Given the description of an element on the screen output the (x, y) to click on. 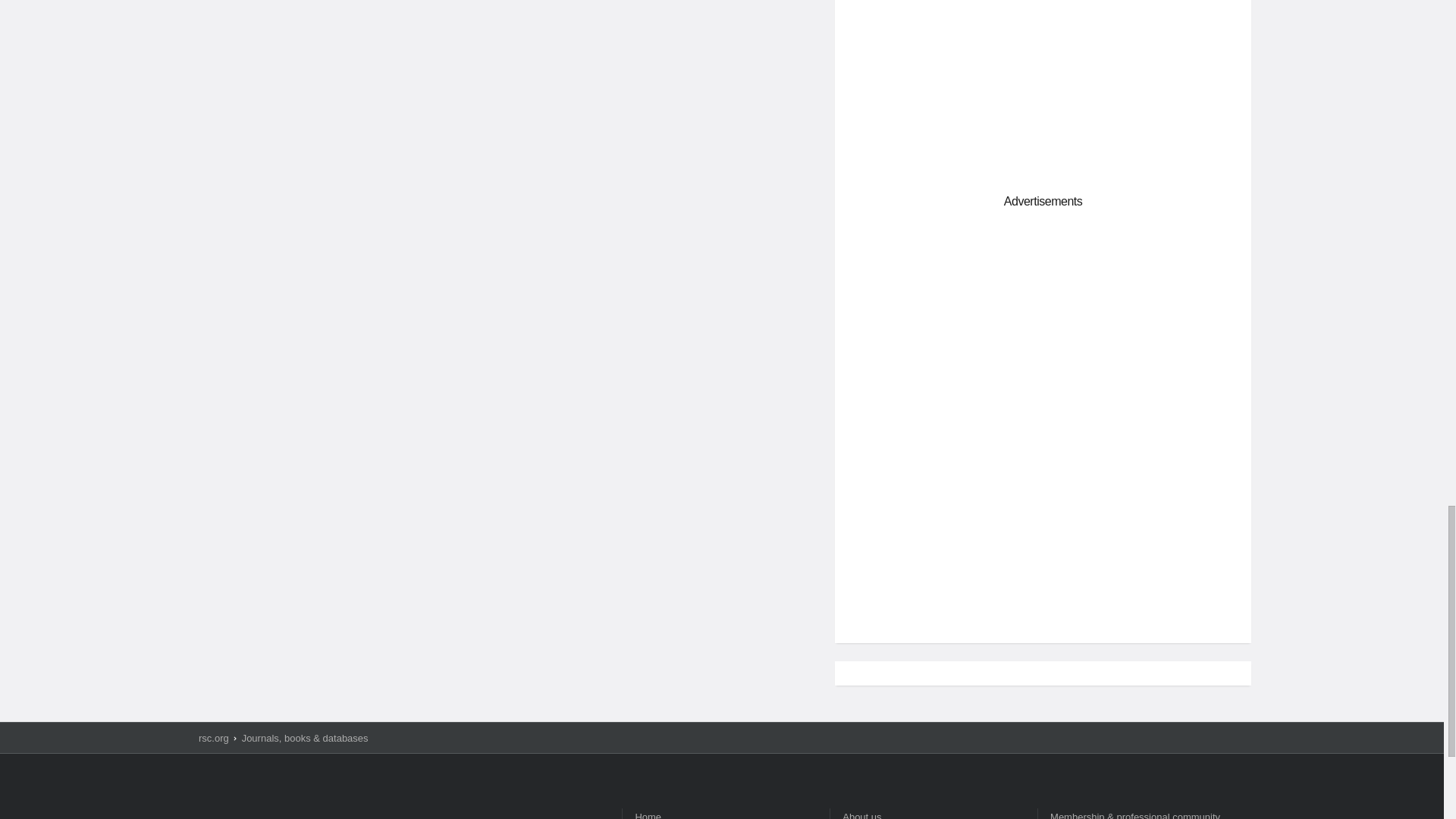
3rd party ad content (1043, 524)
3rd party ad content (1043, 84)
3rd party ad content (1043, 321)
